Given the description of an element on the screen output the (x, y) to click on. 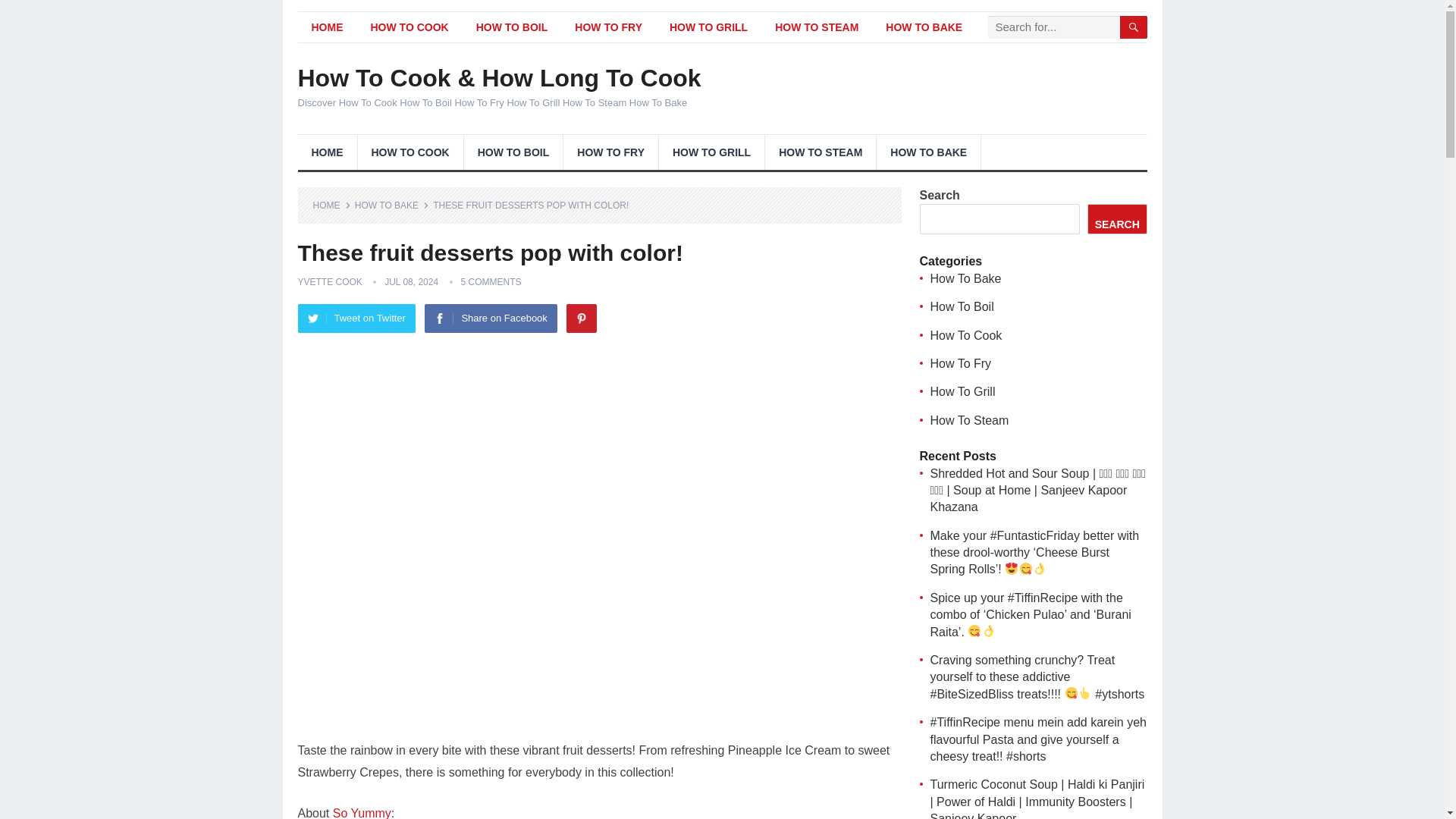
HOW TO BAKE (392, 204)
HOW TO COOK (408, 27)
Share on Facebook (490, 317)
Pinterest (581, 317)
HOME (331, 204)
HOW TO COOK (410, 152)
Posts tagged with so yummy (362, 812)
HOW TO BOIL (512, 27)
HOW TO GRILL (711, 152)
HOME (326, 27)
Posts by Yvette Cook (329, 281)
HOW TO BAKE (927, 152)
HOW TO FRY (608, 27)
5 COMMENTS (491, 281)
HOW TO BAKE (923, 27)
